Given the description of an element on the screen output the (x, y) to click on. 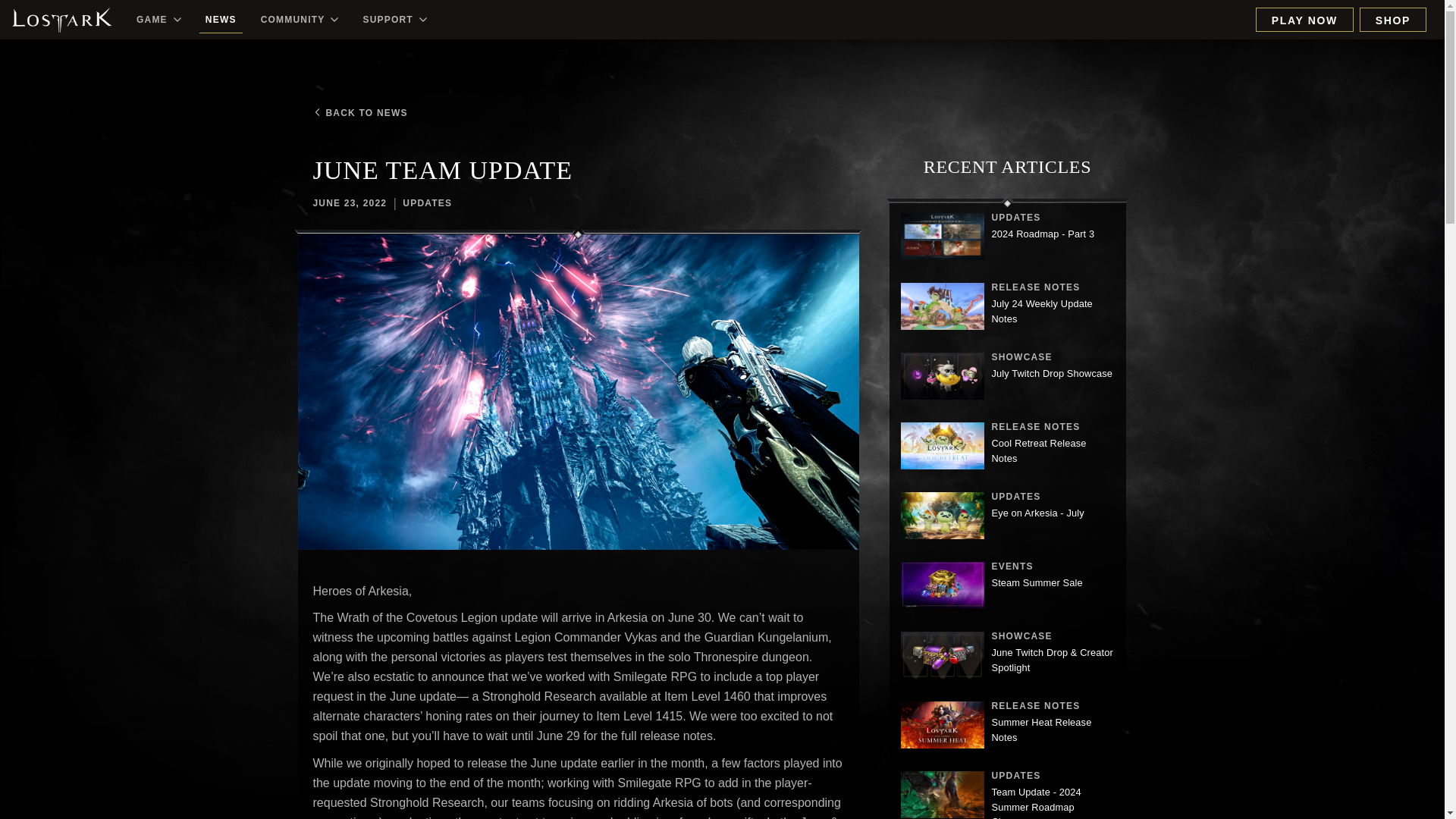
PLAY NOW (1006, 517)
NEWS (1006, 726)
GAME (1006, 307)
SUPPORT (1304, 19)
SHOP (1006, 377)
COMMUNITY (1006, 586)
